Given the description of an element on the screen output the (x, y) to click on. 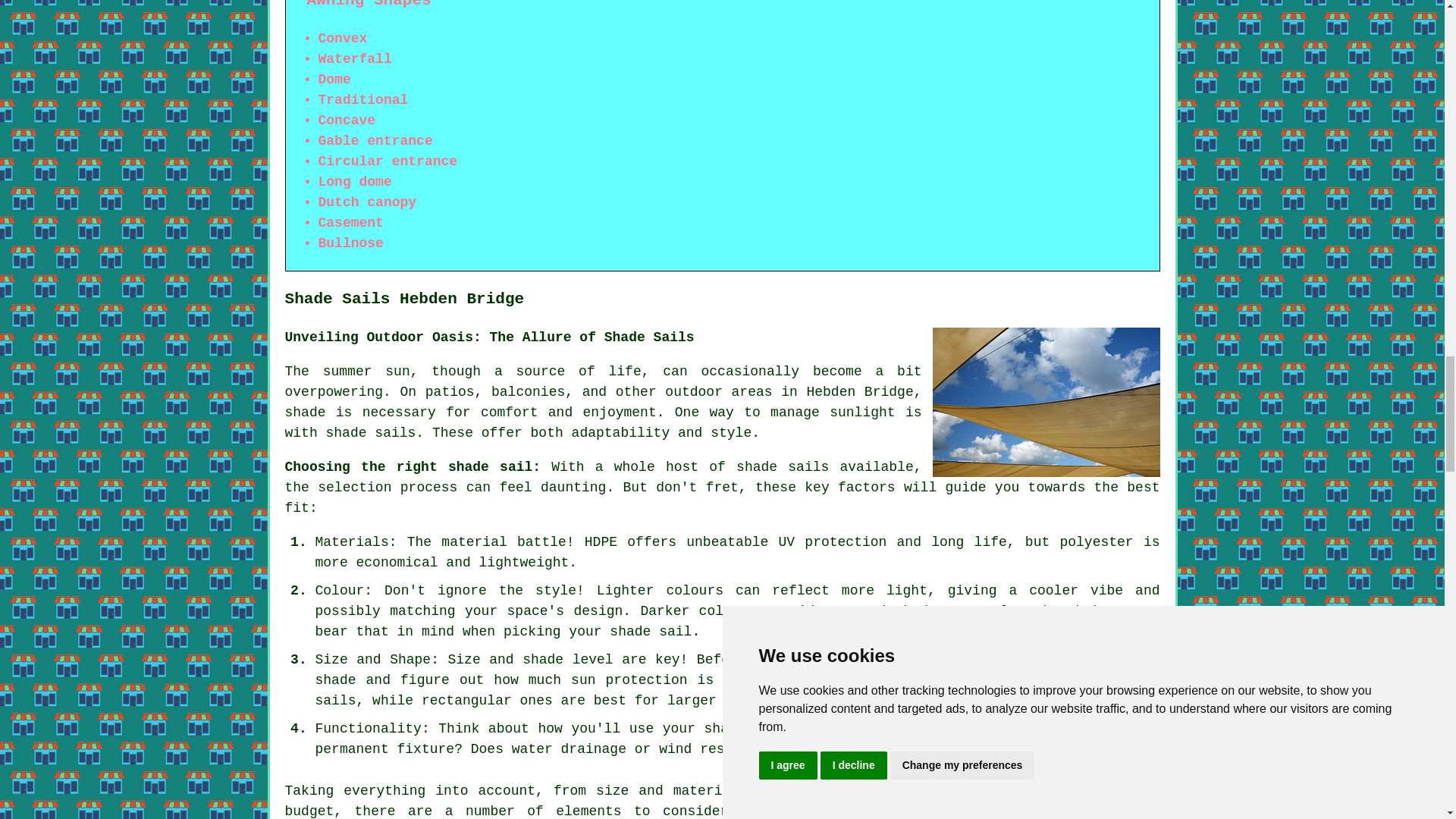
Shade Sails Hebden Bridge (1046, 401)
shade sail (998, 811)
shade sails (371, 432)
